Given the description of an element on the screen output the (x, y) to click on. 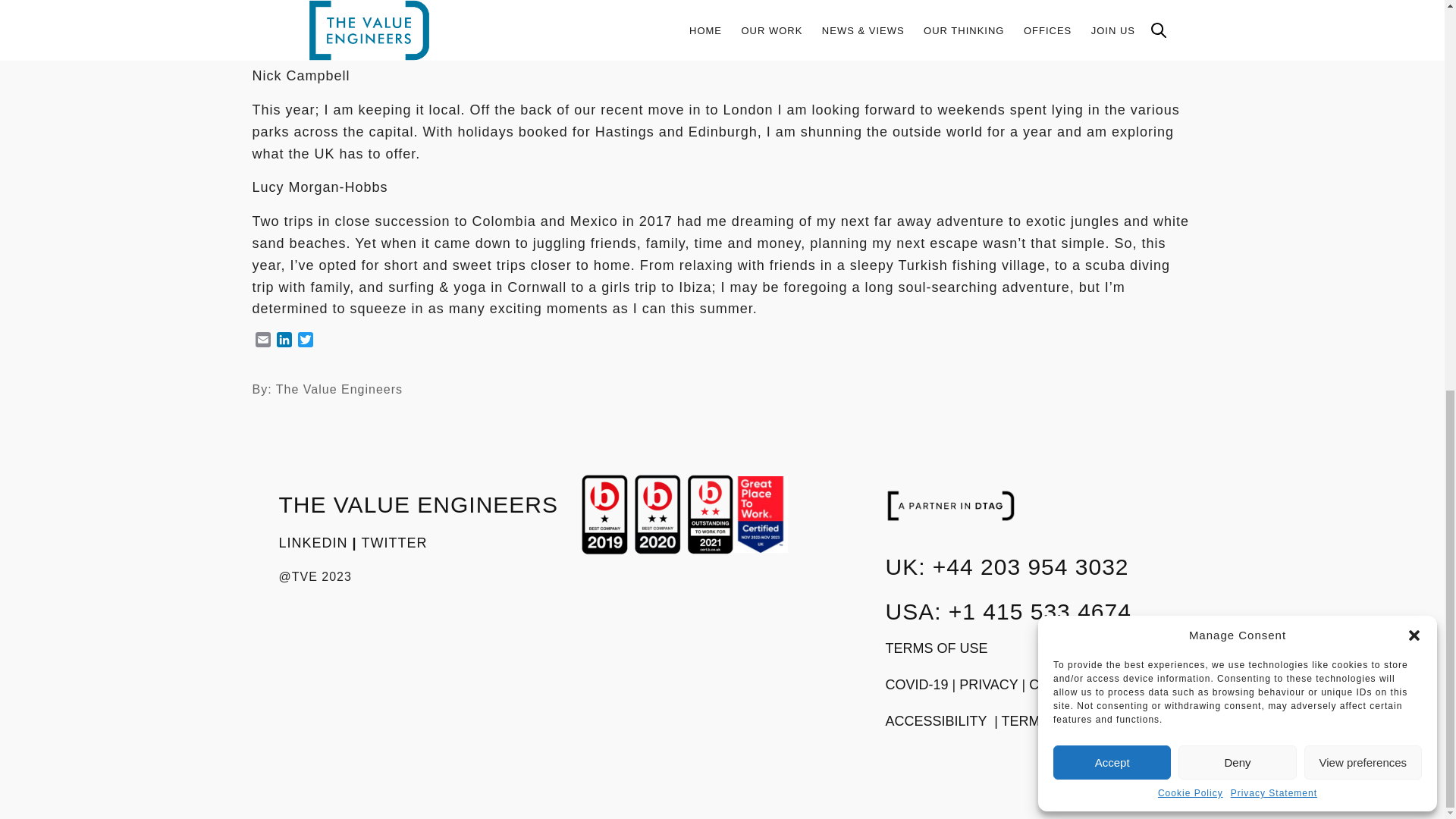
Deny (1236, 18)
Twitter (304, 341)
TWITTER (394, 542)
Twitter (304, 341)
View preferences (1363, 18)
COVID-19 (916, 684)
Cookie Policy (1190, 49)
TERMS OF USE (936, 648)
LinkedIn (283, 341)
Accept (1111, 18)
LinkedIn (283, 341)
LINKEDIN (315, 542)
Email (262, 341)
PRIVACY (988, 684)
COOKIES (1059, 684)
